Given the description of an element on the screen output the (x, y) to click on. 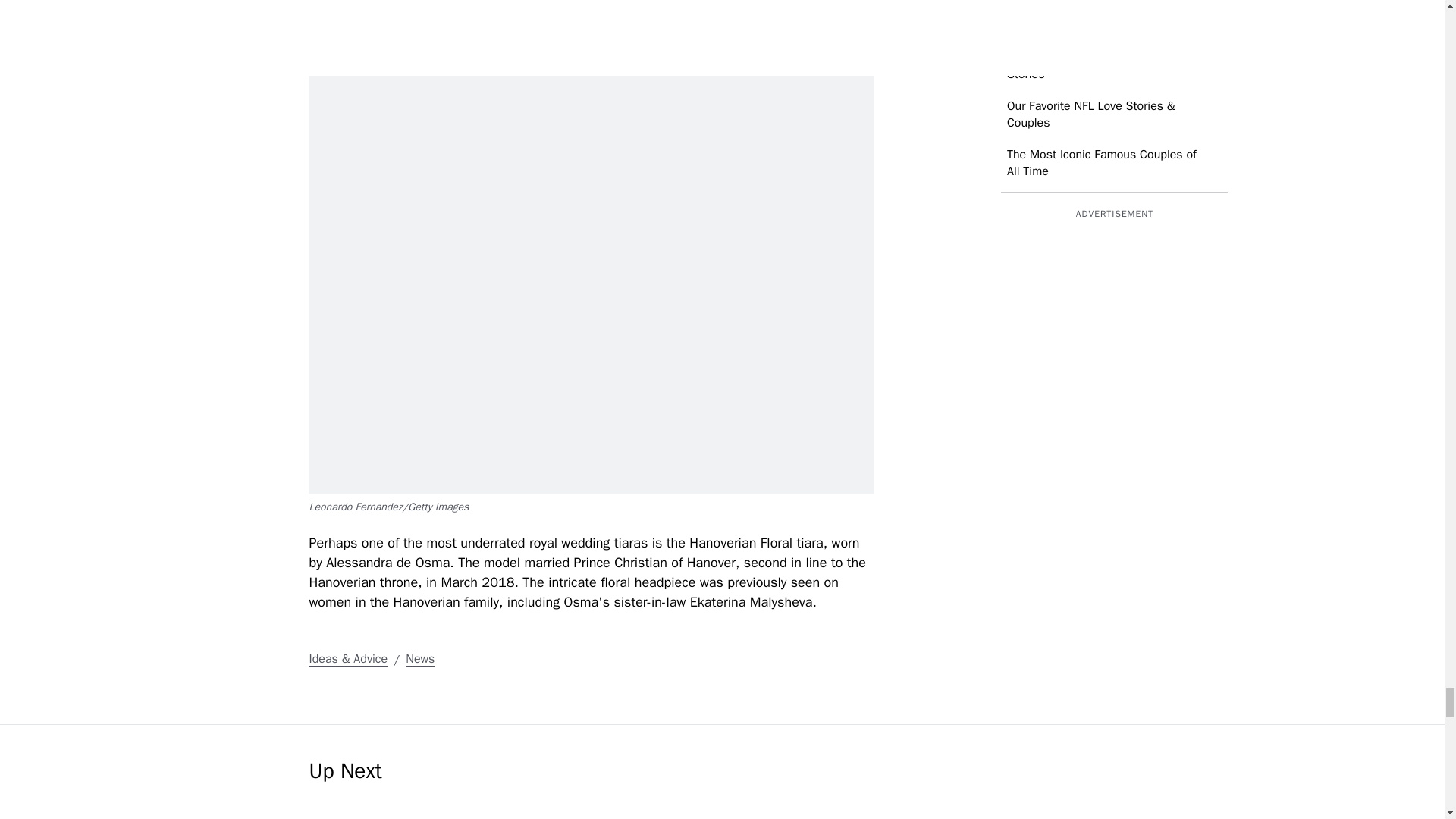
Up Next (737, 788)
